Given the description of an element on the screen output the (x, y) to click on. 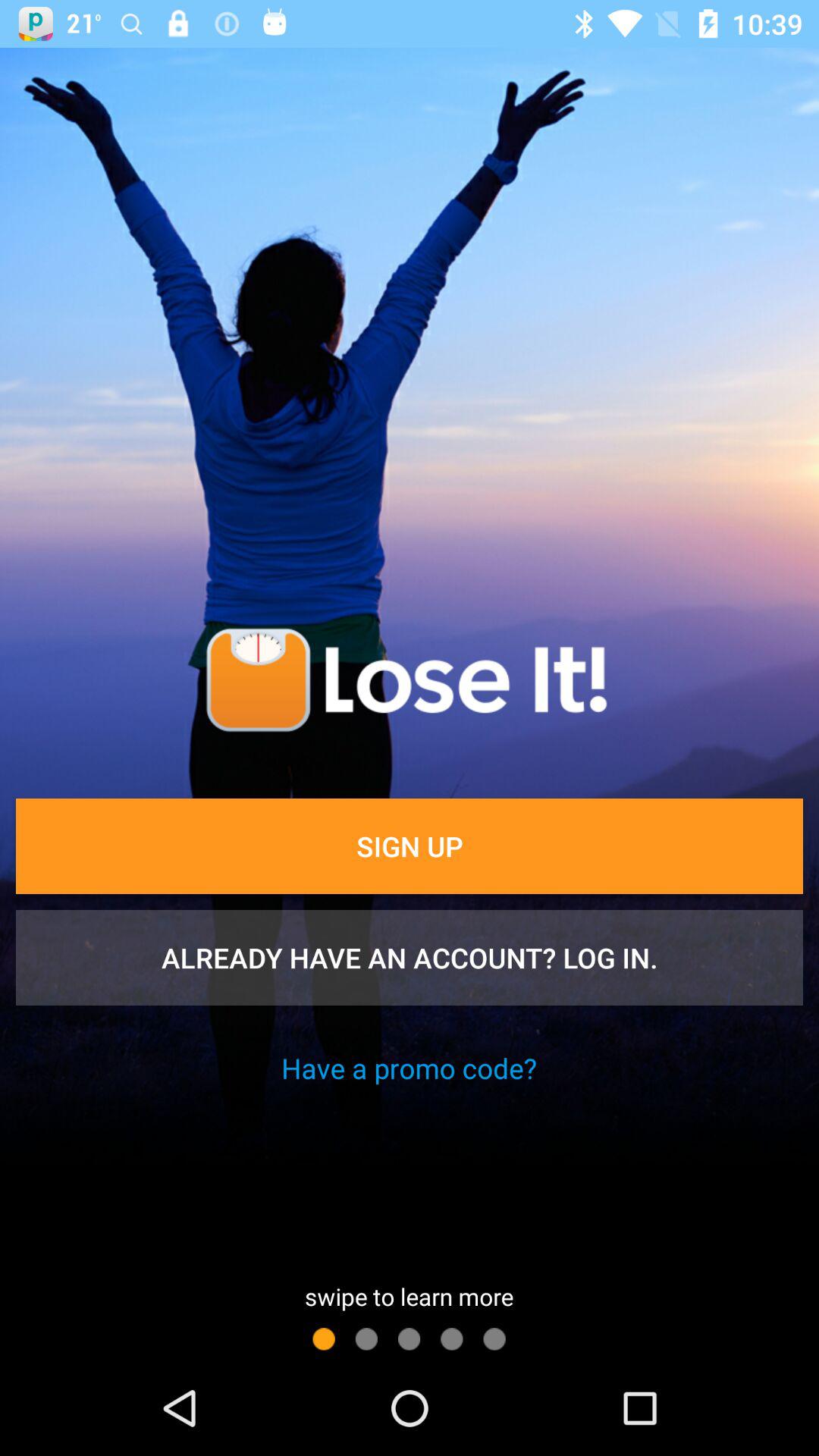
launch the already have an (409, 957)
